Given the description of an element on the screen output the (x, y) to click on. 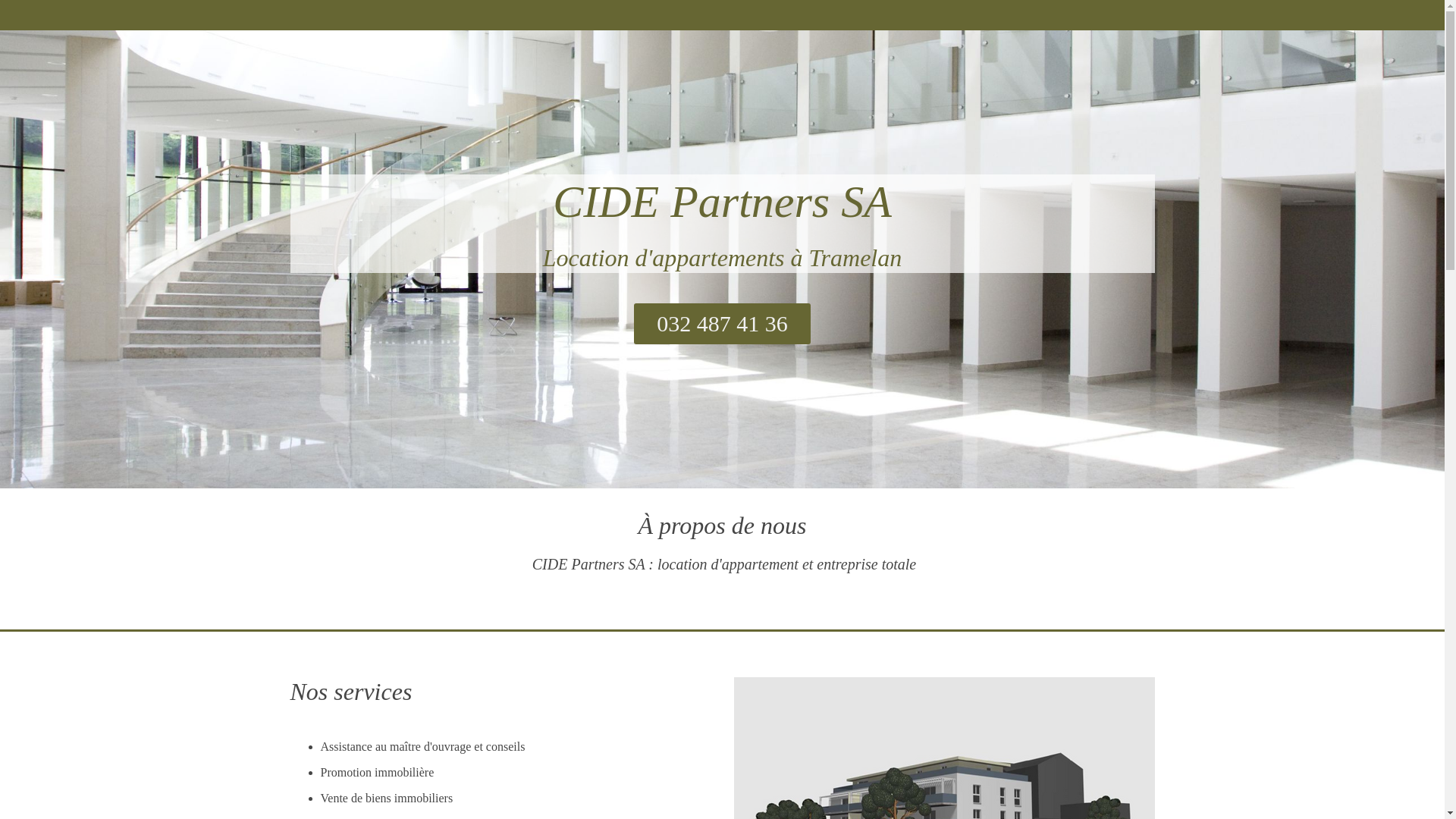
032 487 41 36 Element type: text (721, 323)
